Given the description of an element on the screen output the (x, y) to click on. 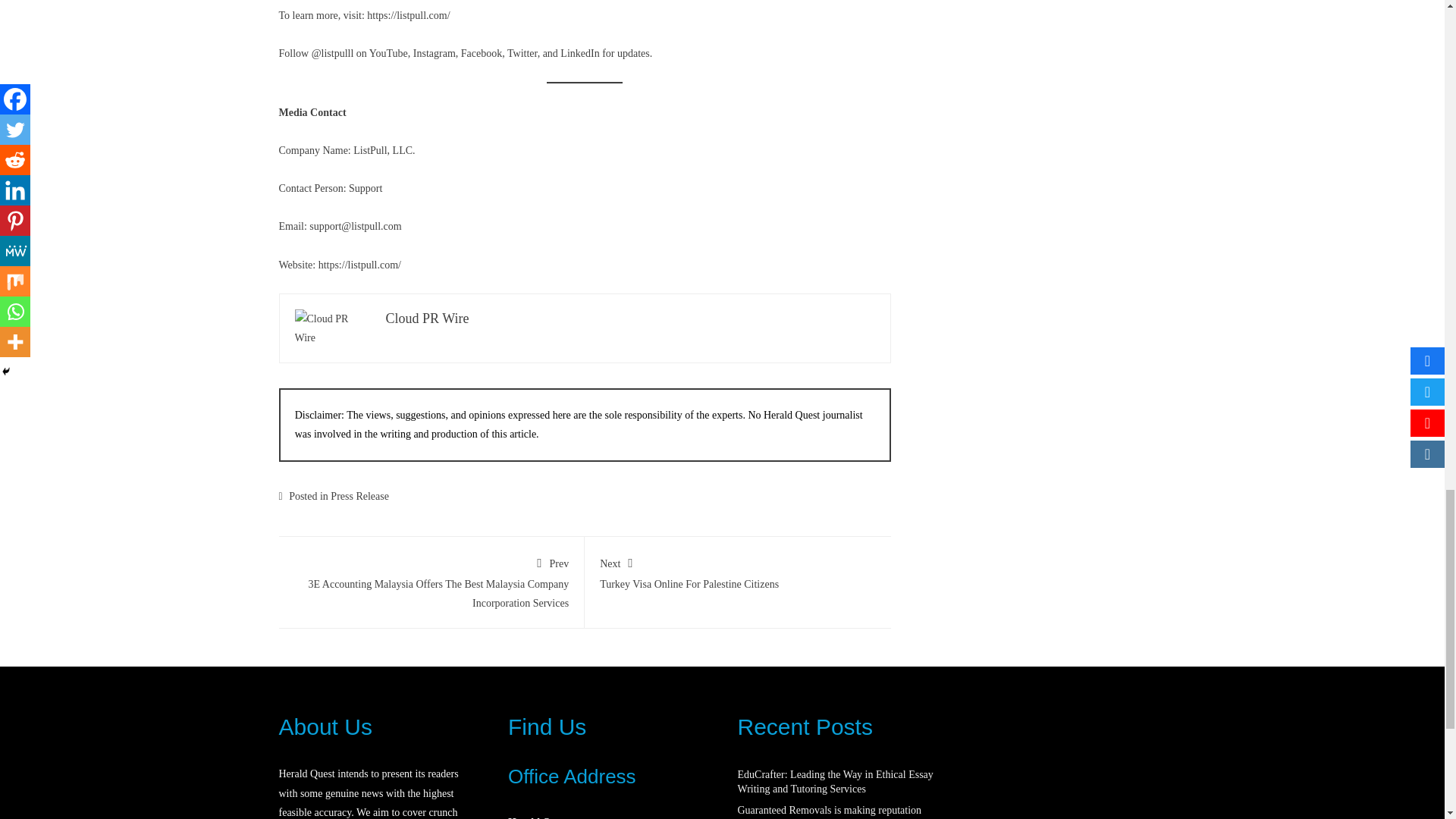
YouTube (388, 52)
Instagram (434, 52)
Cloud PR Wire (426, 318)
